Given the description of an element on the screen output the (x, y) to click on. 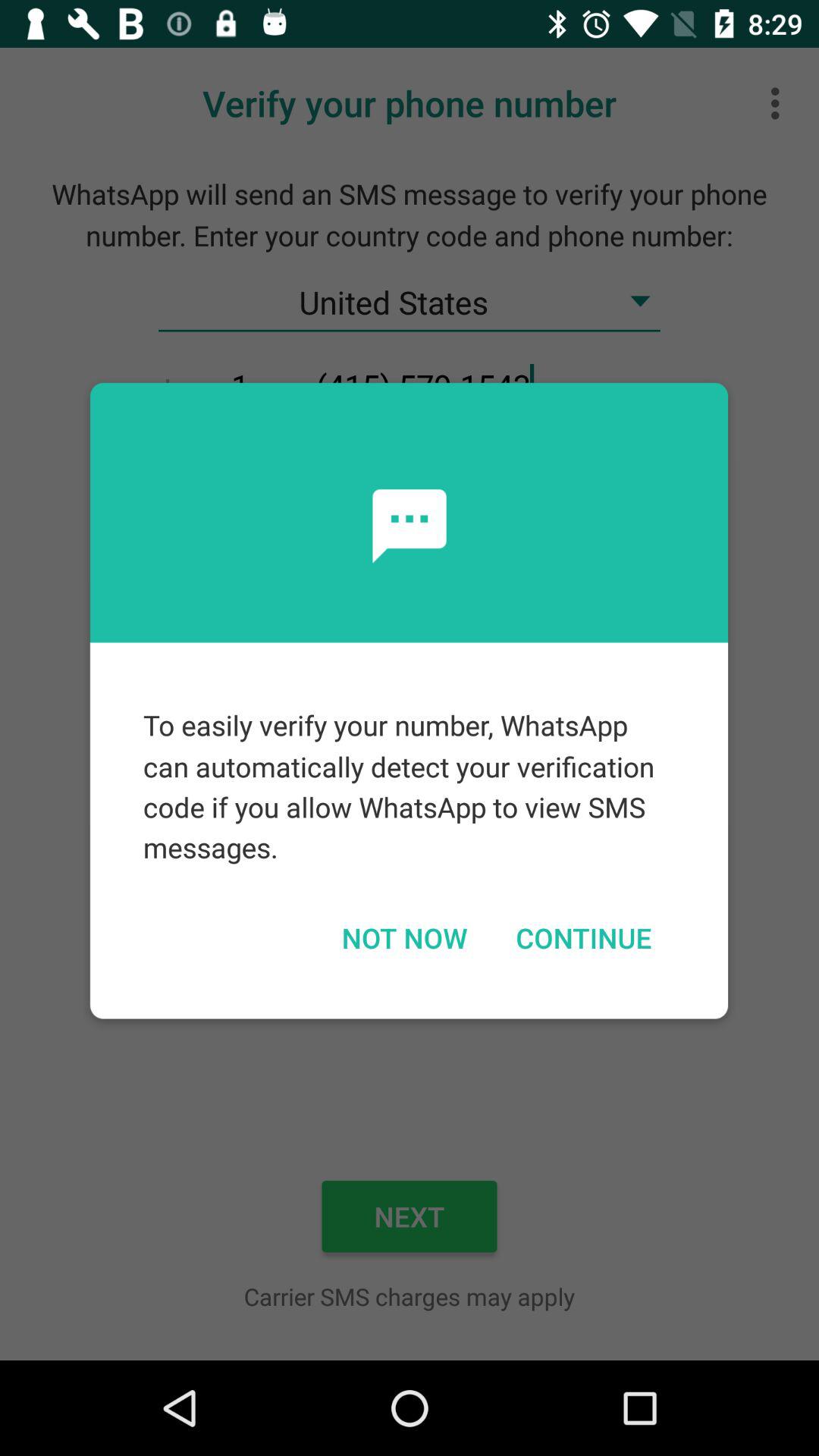
choose not now icon (403, 937)
